Given the description of an element on the screen output the (x, y) to click on. 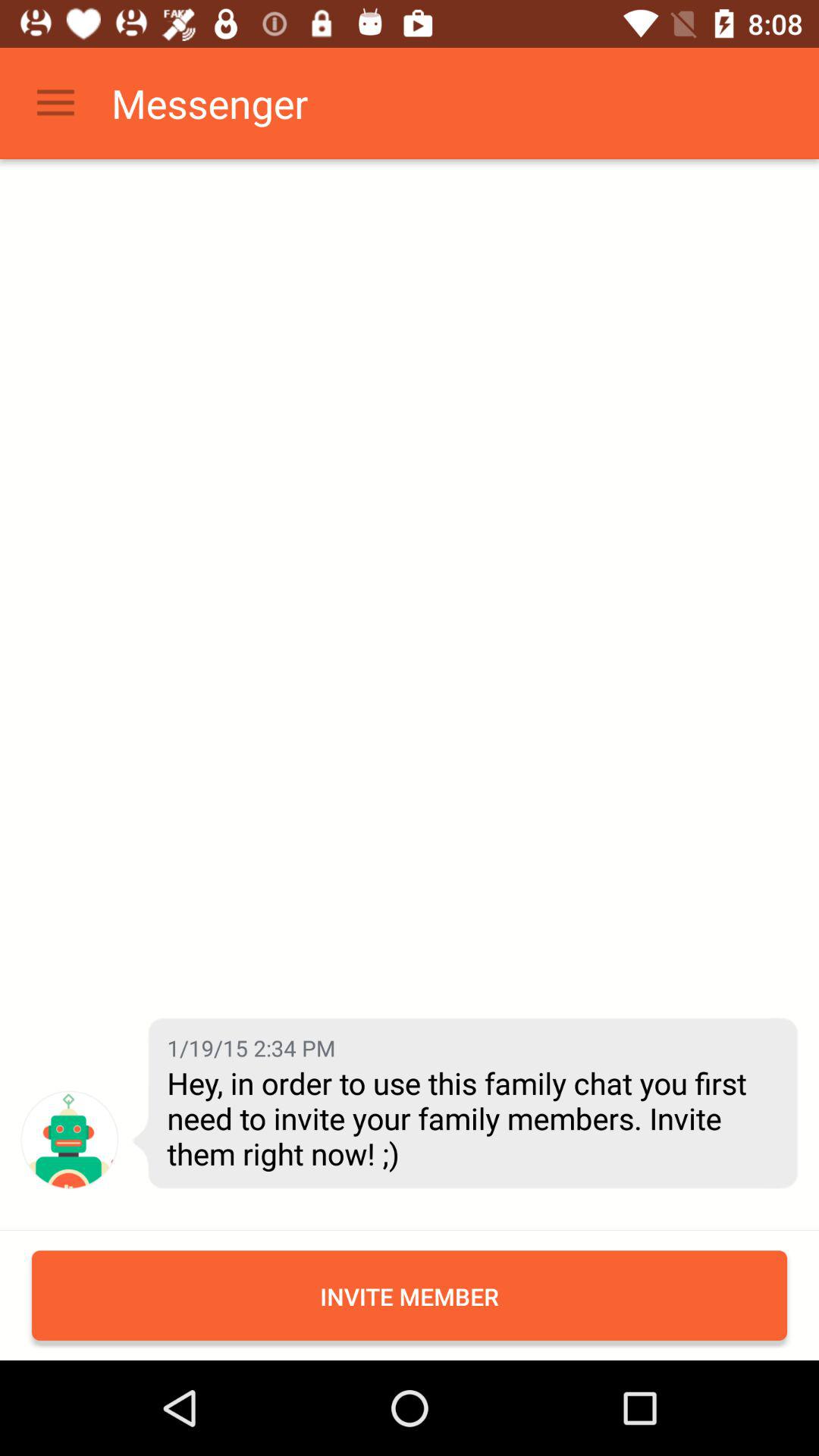
click the item above hey in order icon (251, 1047)
